Given the description of an element on the screen output the (x, y) to click on. 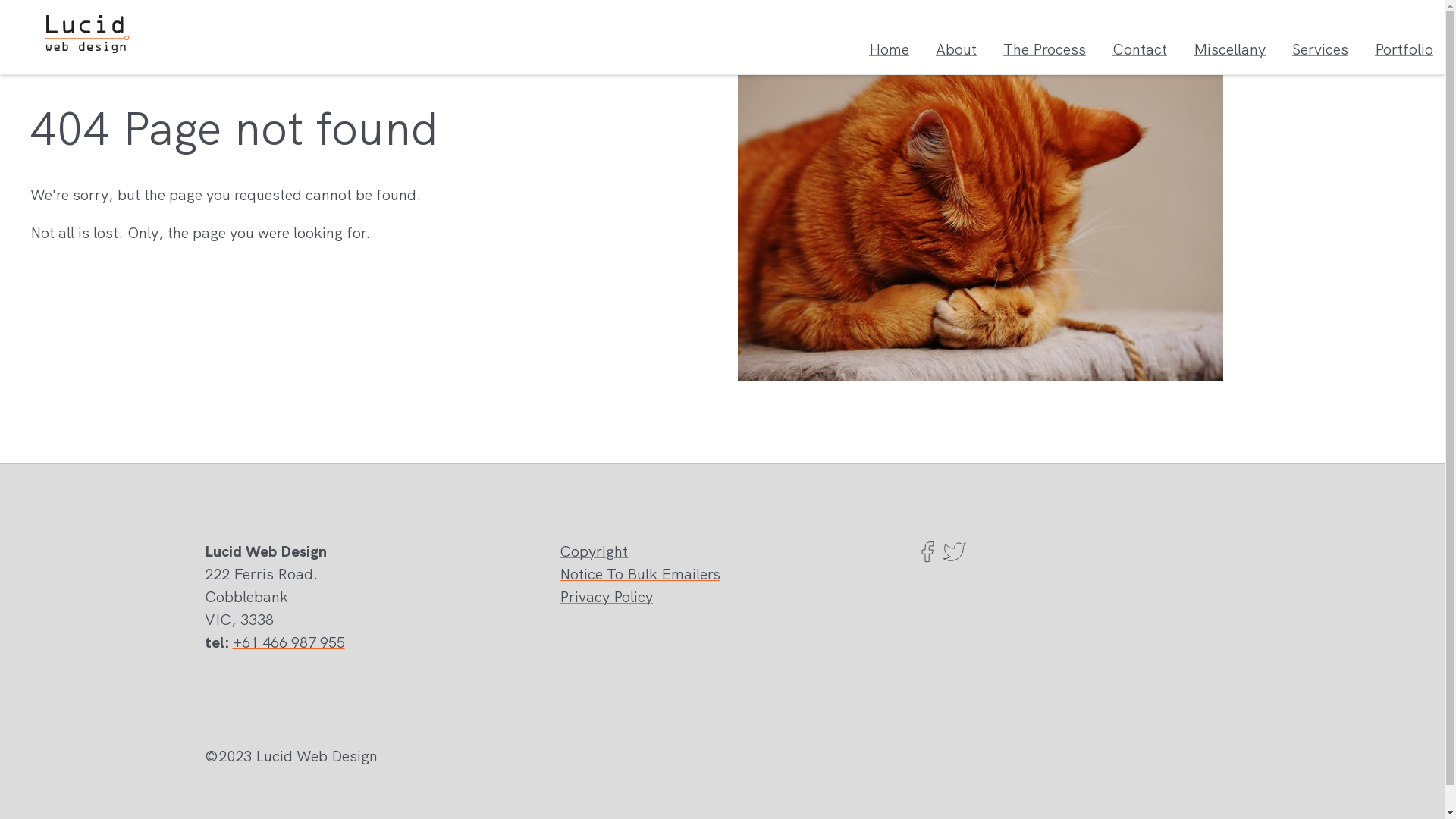
Services Element type: text (1320, 49)
facebook Element type: hover (926, 557)
Miscellany Element type: text (1229, 49)
Copyright Element type: text (593, 551)
+61 466 987 955 Element type: text (288, 642)
twitter Element type: hover (954, 557)
About Element type: text (955, 49)
Portfolio Element type: text (1403, 49)
Notice To Bulk Emailers Element type: text (639, 573)
The Process Element type: text (1044, 49)
Contact Element type: text (1139, 49)
Home Element type: text (889, 49)
Privacy Policy Element type: text (605, 596)
